Given the description of an element on the screen output the (x, y) to click on. 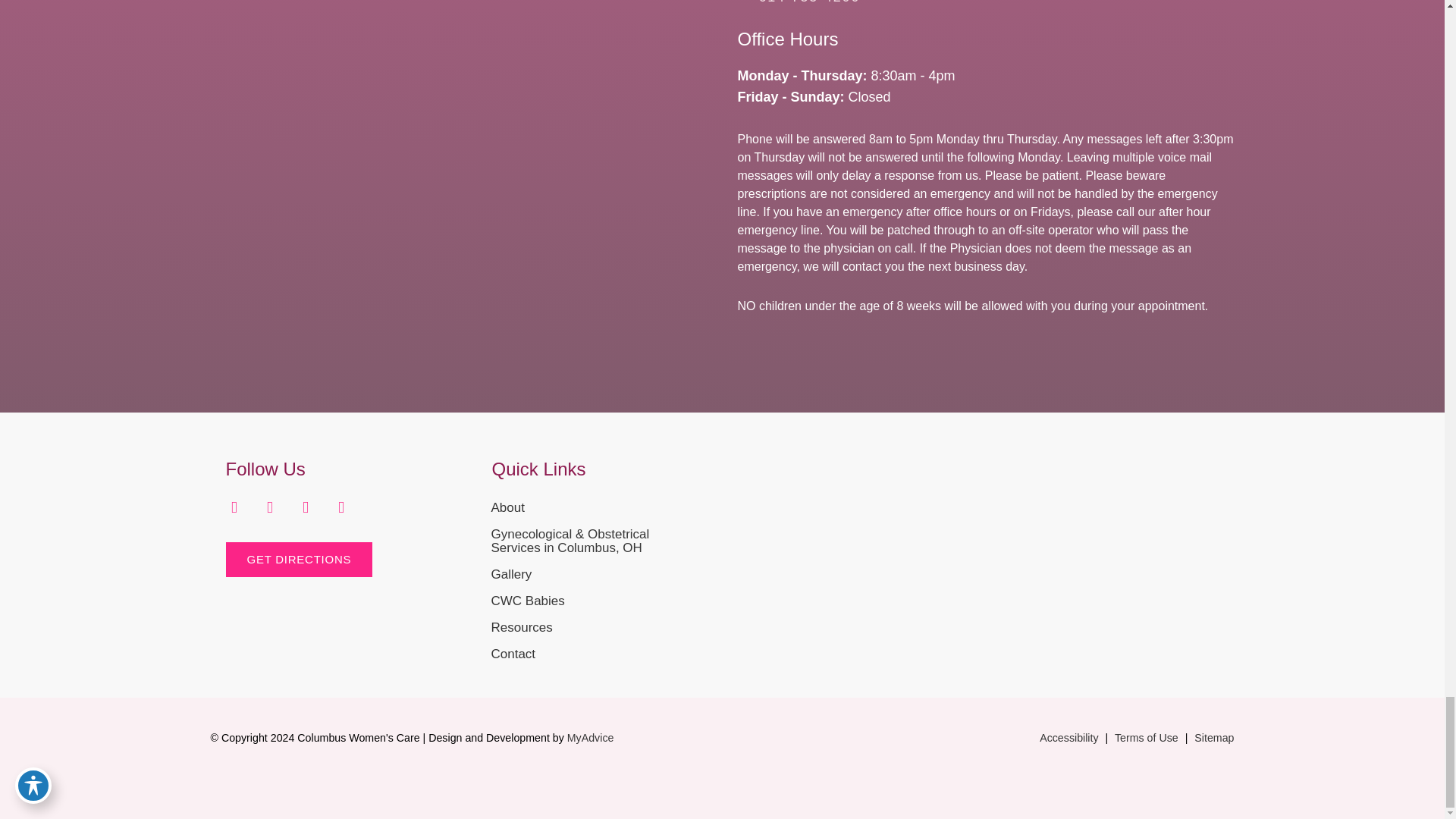
Map Location (973, 503)
